Given the description of an element on the screen output the (x, y) to click on. 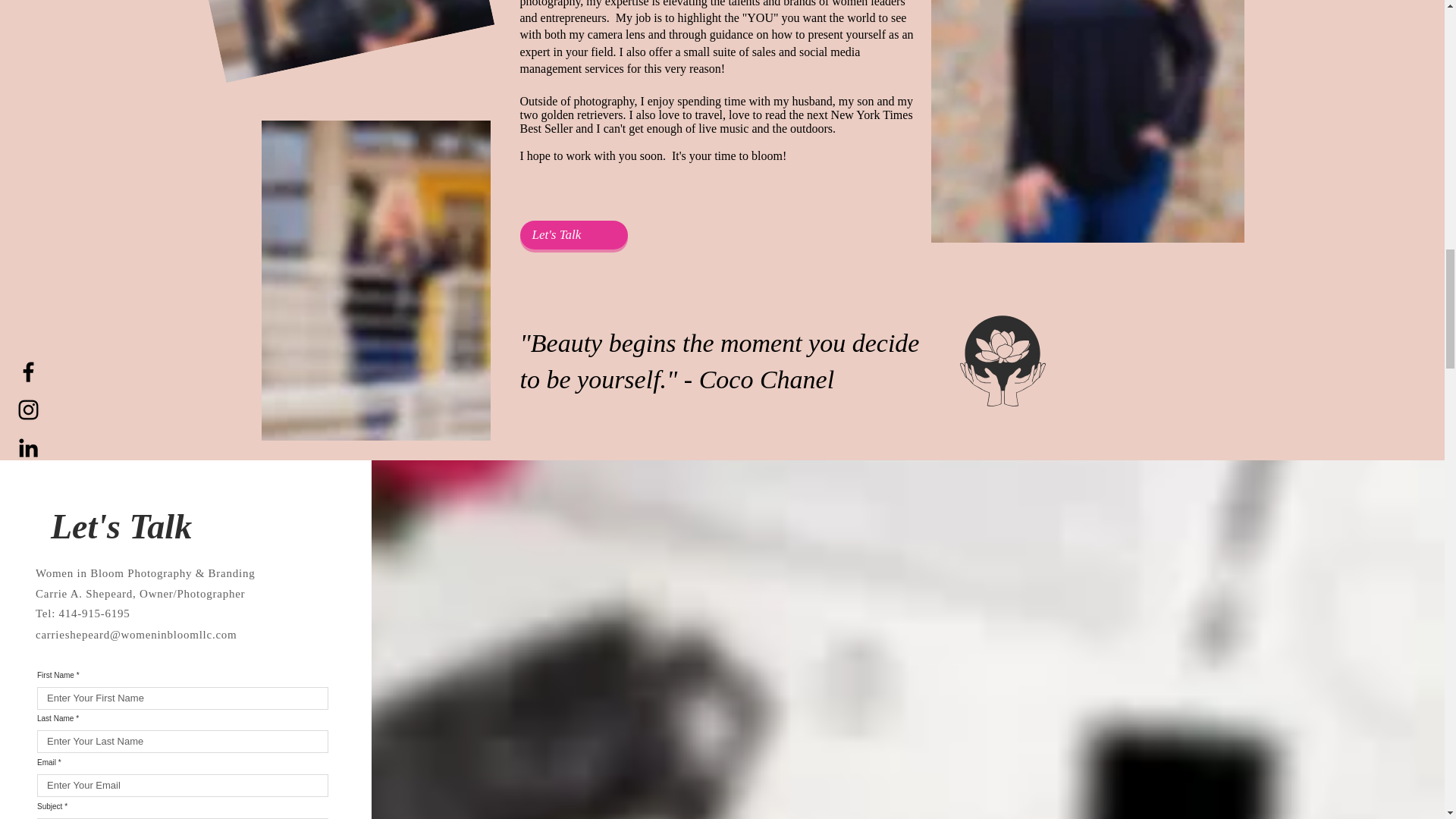
Let's Talk (573, 234)
